Given the description of an element on the screen output the (x, y) to click on. 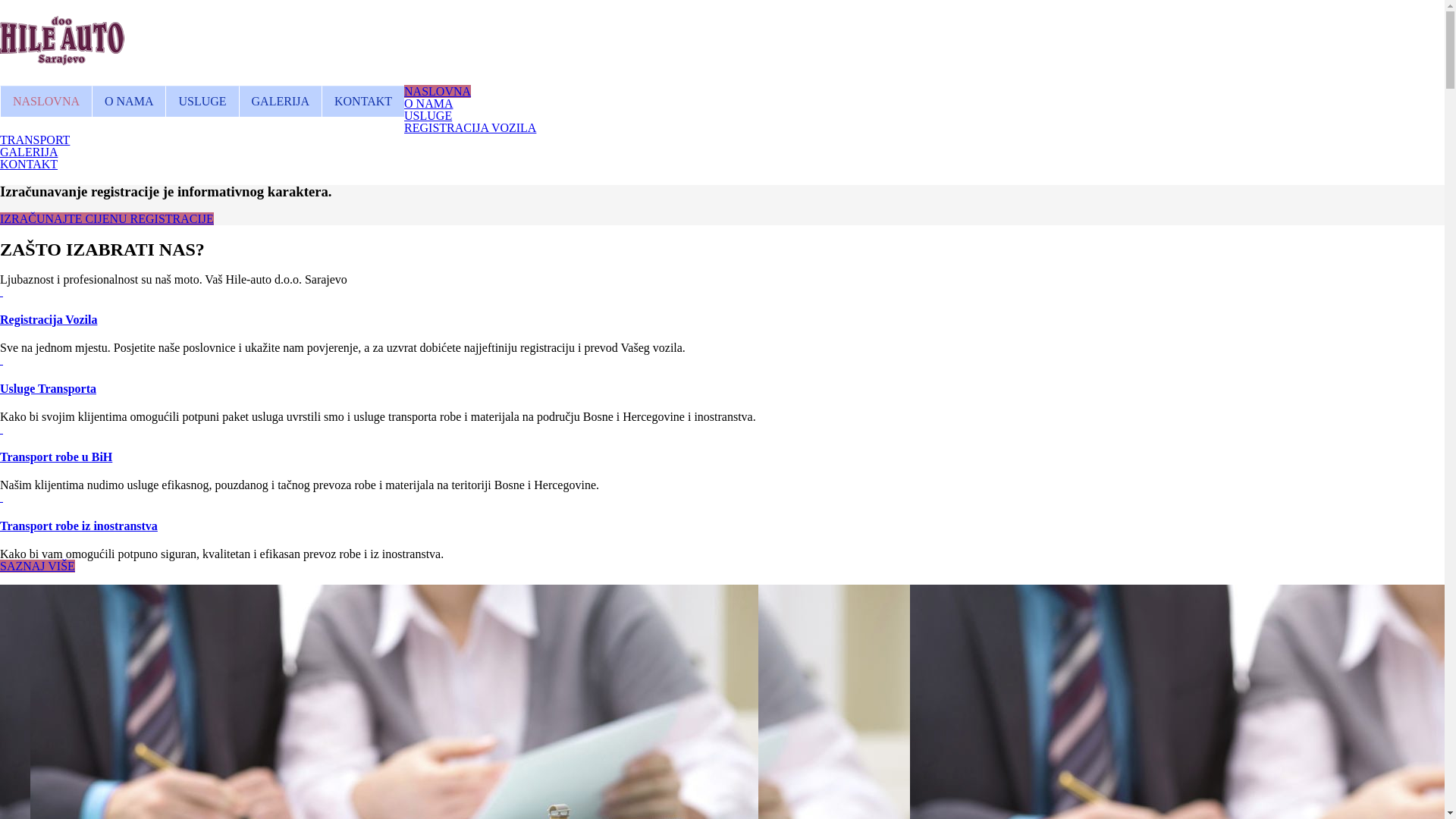
GALERIJA Element type: text (279, 100)
Transport robe u BiH Element type: text (56, 456)
O NAMA Element type: text (128, 100)
Registracija Vozila Element type: text (48, 319)
KONTAKT Element type: text (362, 100)
Hile Auto Element type: hover (62, 56)
GALERIJA Element type: text (28, 151)
KONTAKT Element type: text (28, 163)
TRANSPORT Element type: text (34, 139)
USLUGE Element type: text (201, 100)
O NAMA Element type: text (428, 103)
Usluge Transporta Element type: text (48, 388)
  Element type: text (1, 291)
USLUGE Element type: text (427, 115)
Transport robe iz inostranstva Element type: text (78, 525)
NASLOVNA Element type: text (45, 100)
  Element type: text (1, 359)
  Element type: text (1, 428)
  Element type: text (1, 496)
REGISTRACIJA VOZILA Element type: text (470, 127)
NASLOVNA Element type: text (437, 90)
